Given the description of an element on the screen output the (x, y) to click on. 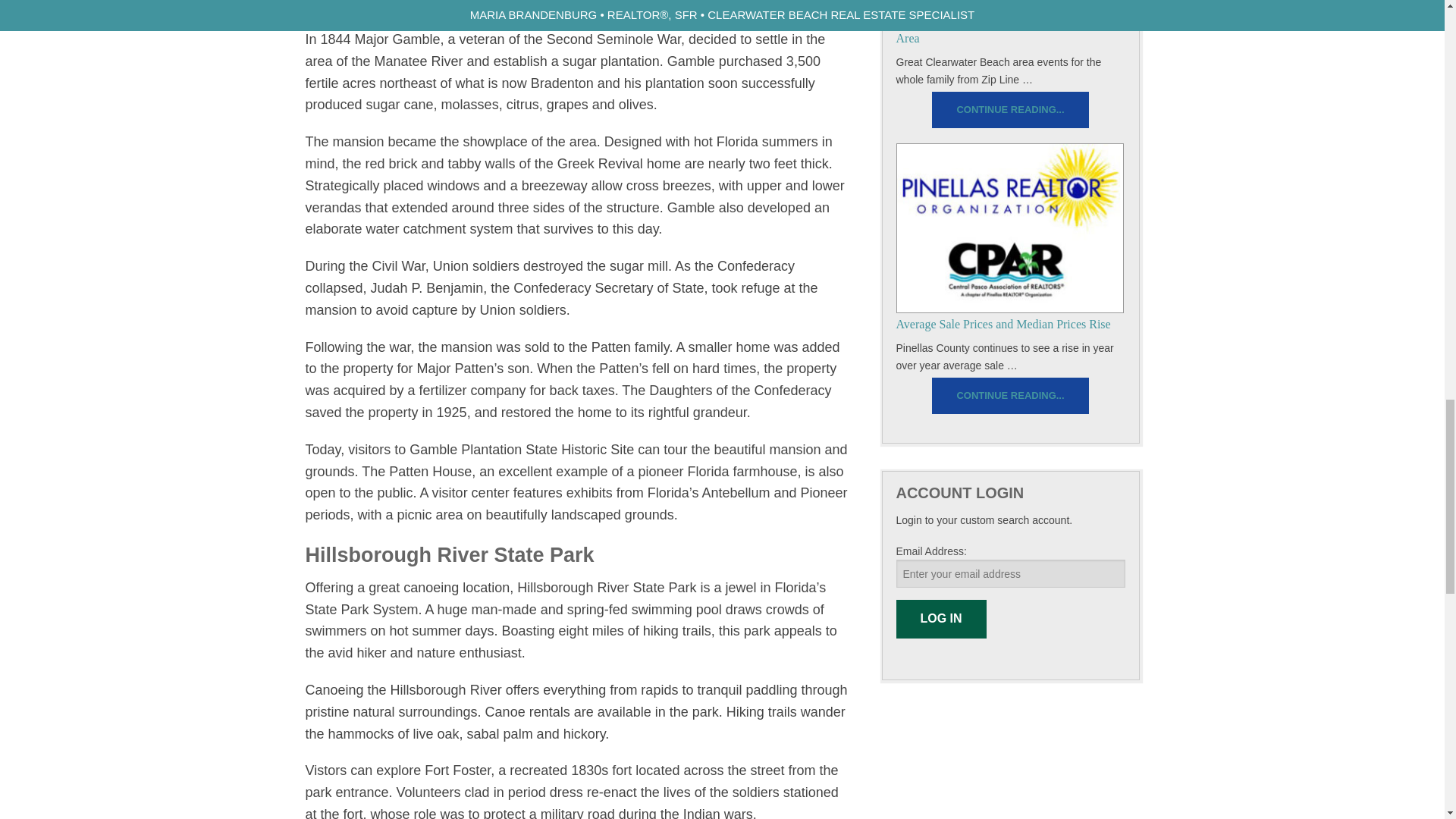
Log In (941, 618)
